Given the description of an element on the screen output the (x, y) to click on. 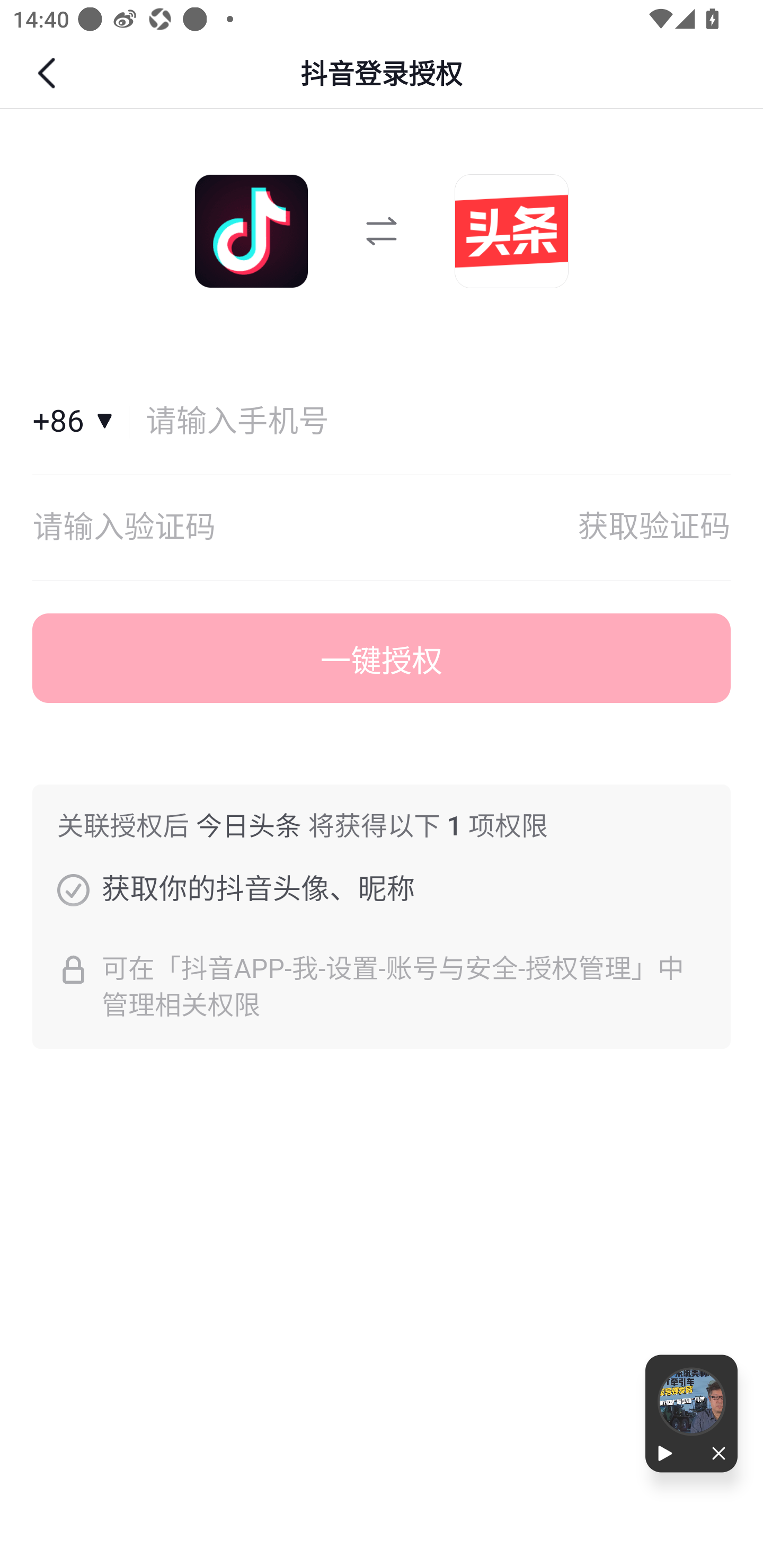
返回 (49, 72)
国家和地区+86 (81, 421)
获取验证码 (653, 527)
一键授权 (381, 658)
获取你的抖音头像、昵称 (72, 889)
当前进度 0% 播放 关闭 (691, 1413)
当前进度 0% (691, 1401)
播放 (668, 1454)
关闭 (714, 1454)
